Given the description of an element on the screen output the (x, y) to click on. 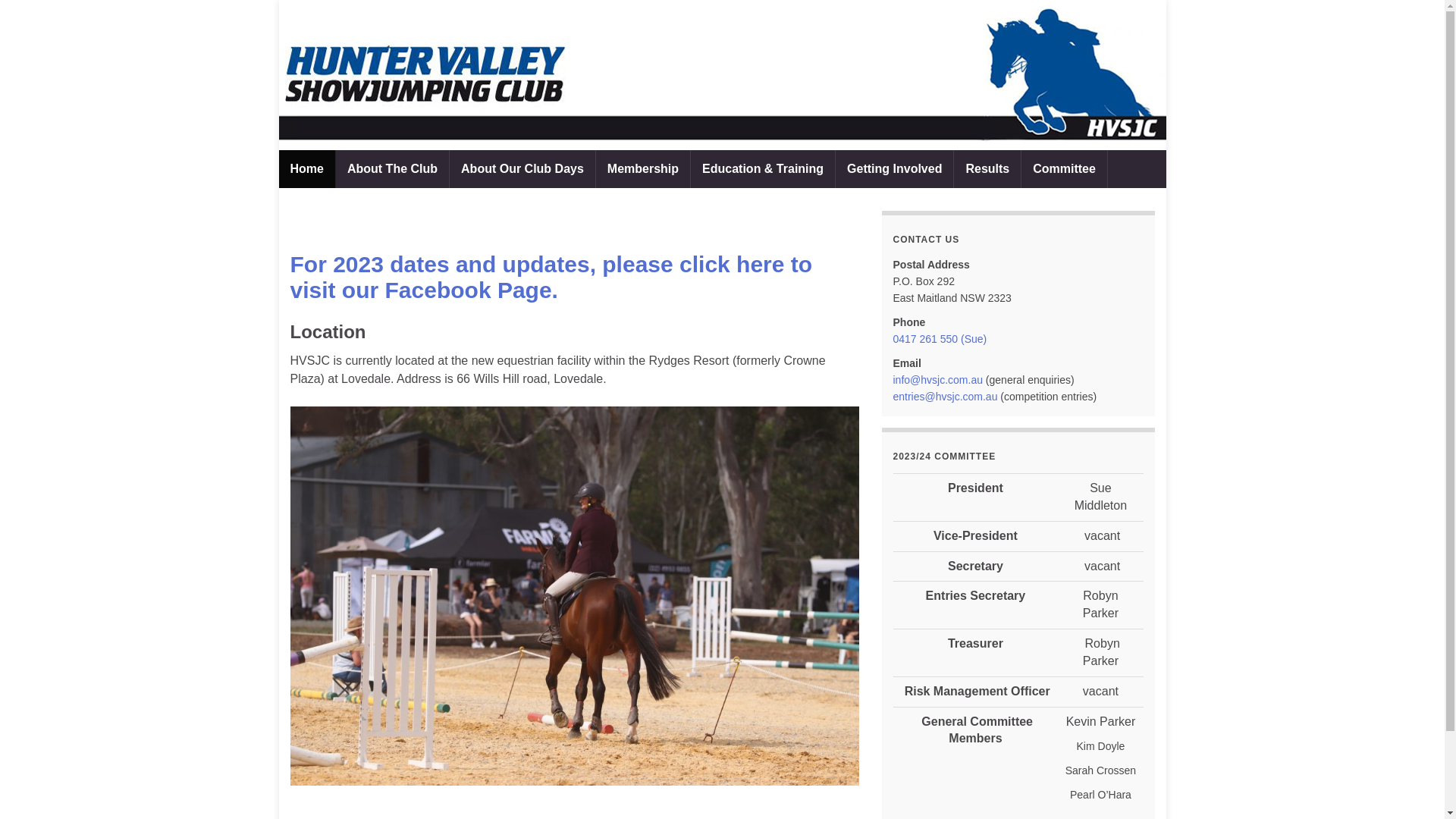
entries@hvsjc.com.au Element type: text (945, 396)
Education & Training Element type: text (762, 169)
hvsjc banner Element type: hover (722, 75)
Home Element type: text (307, 169)
About Our Club Days Element type: text (522, 169)
Committee Element type: text (1064, 169)
Membership Element type: text (643, 169)
About The Club Element type: text (391, 169)
Results Element type: text (986, 169)
info@hvsjc.com.au Element type: text (937, 379)
Getting Involved Element type: text (894, 169)
0417 261 550 (Sue) Element type: text (940, 338)
